Given the description of an element on the screen output the (x, y) to click on. 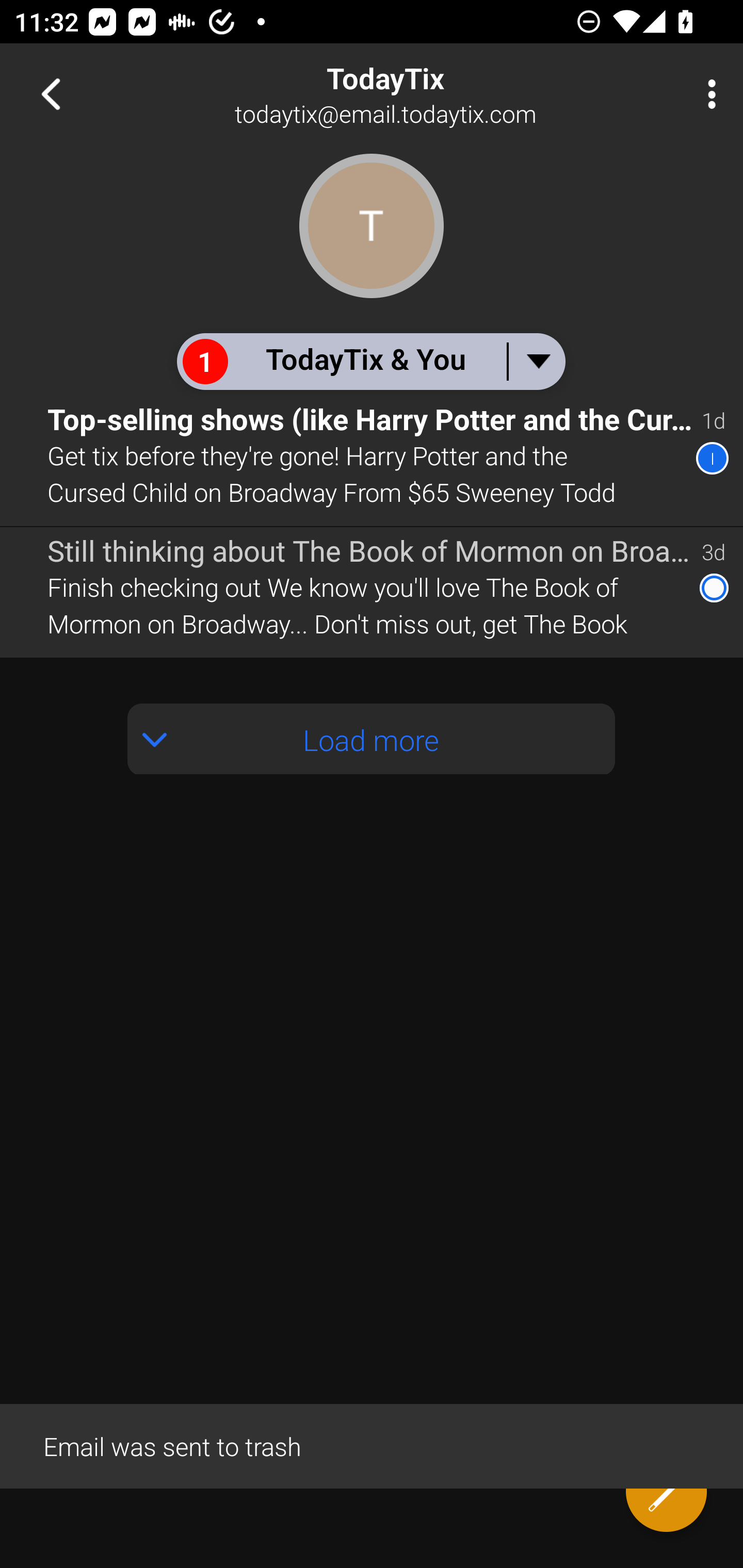
Navigate up (50, 93)
TodayTix todaytix@email.todaytix.com (436, 93)
More Options (706, 93)
1 TodayTix & You (370, 361)
Load more (371, 739)
Email was sent to trash (371, 1445)
